Given the description of an element on the screen output the (x, y) to click on. 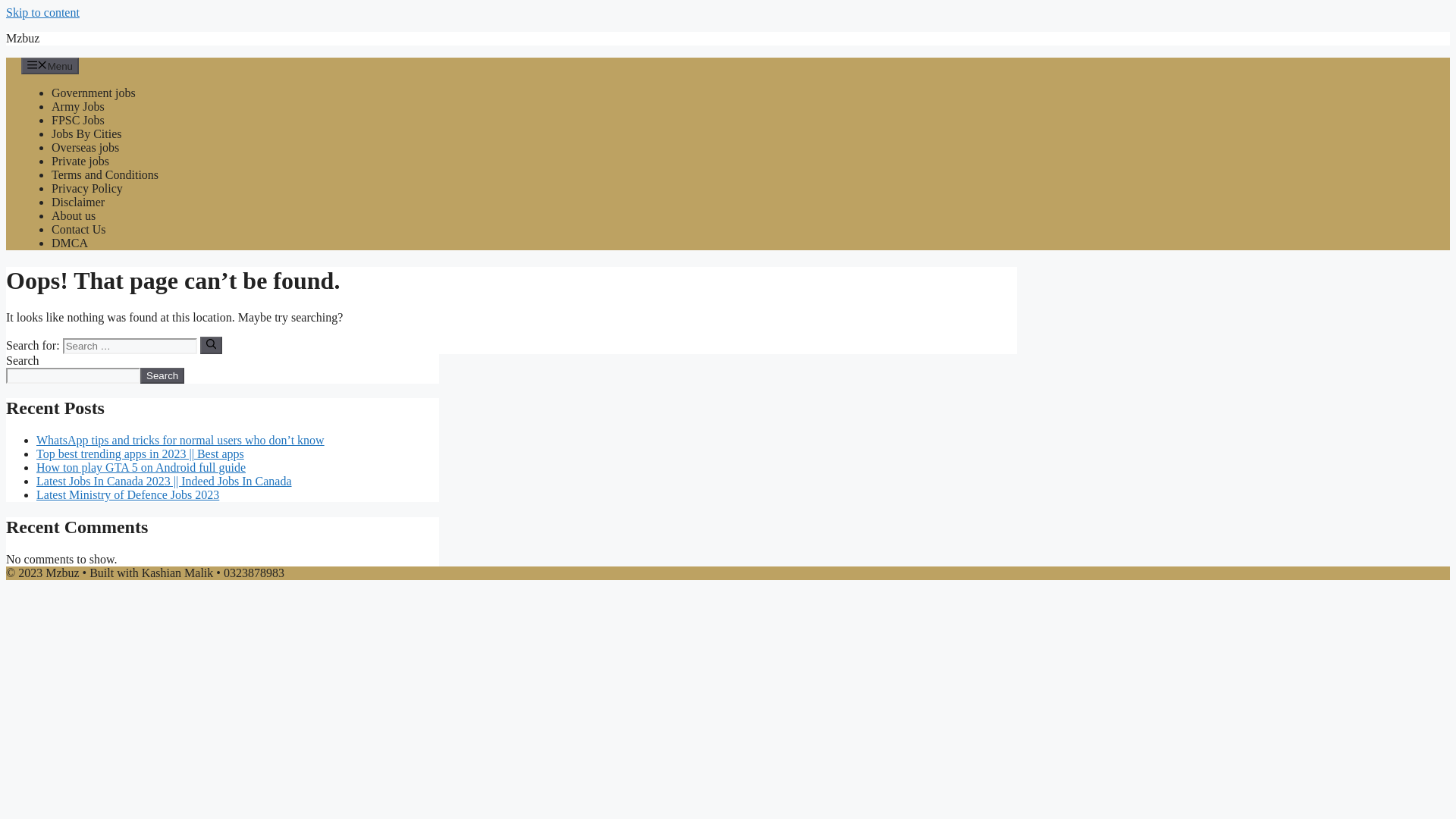
Skip to content (42, 11)
Mzbuz (22, 38)
Overseas jobs (84, 146)
Search (161, 375)
DMCA (68, 242)
About us (73, 215)
Private jobs (79, 160)
FPSC Jobs (77, 119)
Privacy Policy (86, 187)
Army Jobs (77, 106)
Contact Us (78, 228)
Search for: (129, 345)
Terms and Conditions (104, 174)
Disclaimer (77, 201)
How ton play GTA 5 on Android full guide (141, 467)
